Given the description of an element on the screen output the (x, y) to click on. 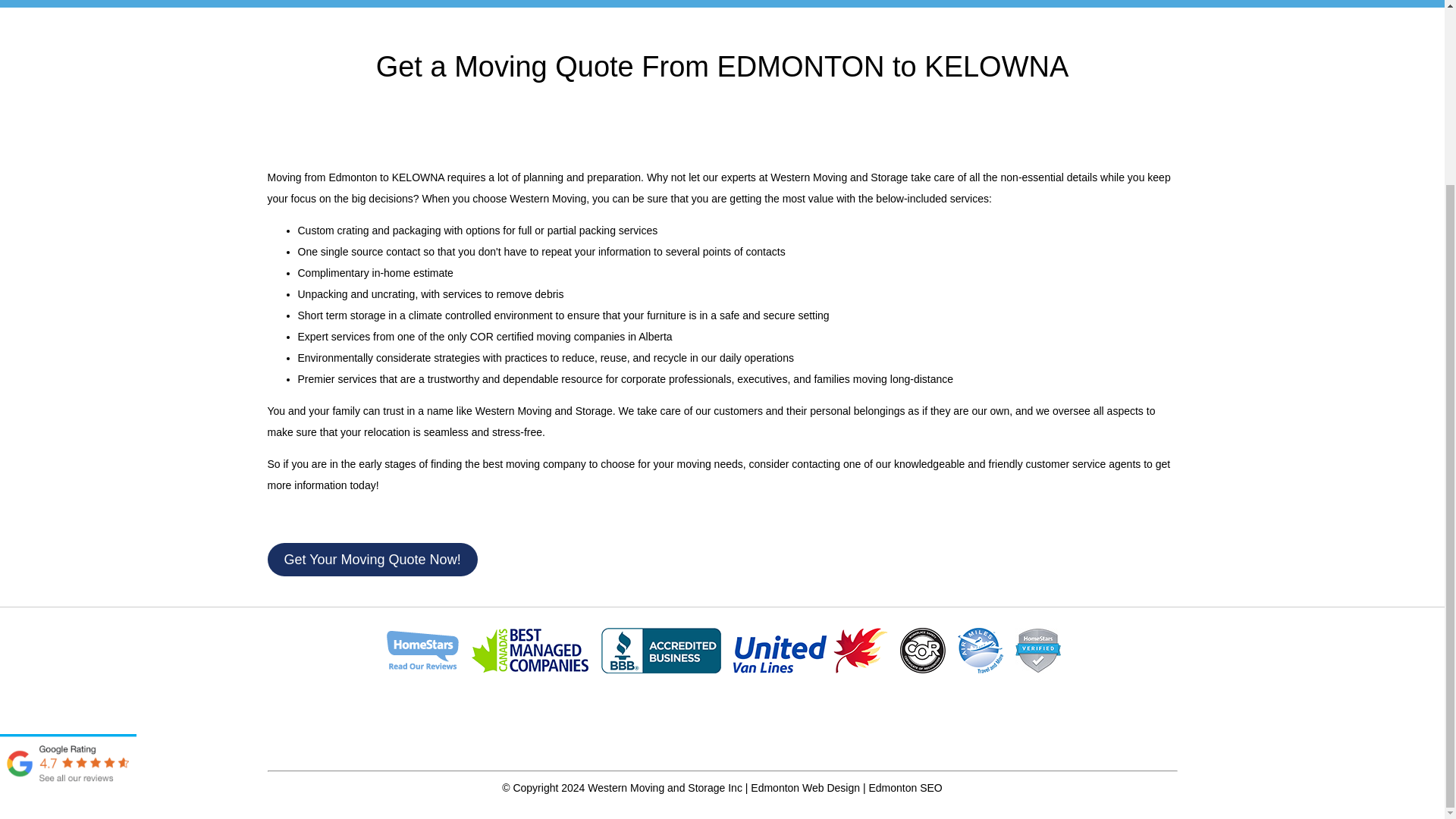
HomeStars Review Our Work (422, 650)
Edmonton Web Design (805, 787)
Get Your Moving Quote Now! (371, 559)
Edmonton SEO (904, 787)
